Given the description of an element on the screen output the (x, y) to click on. 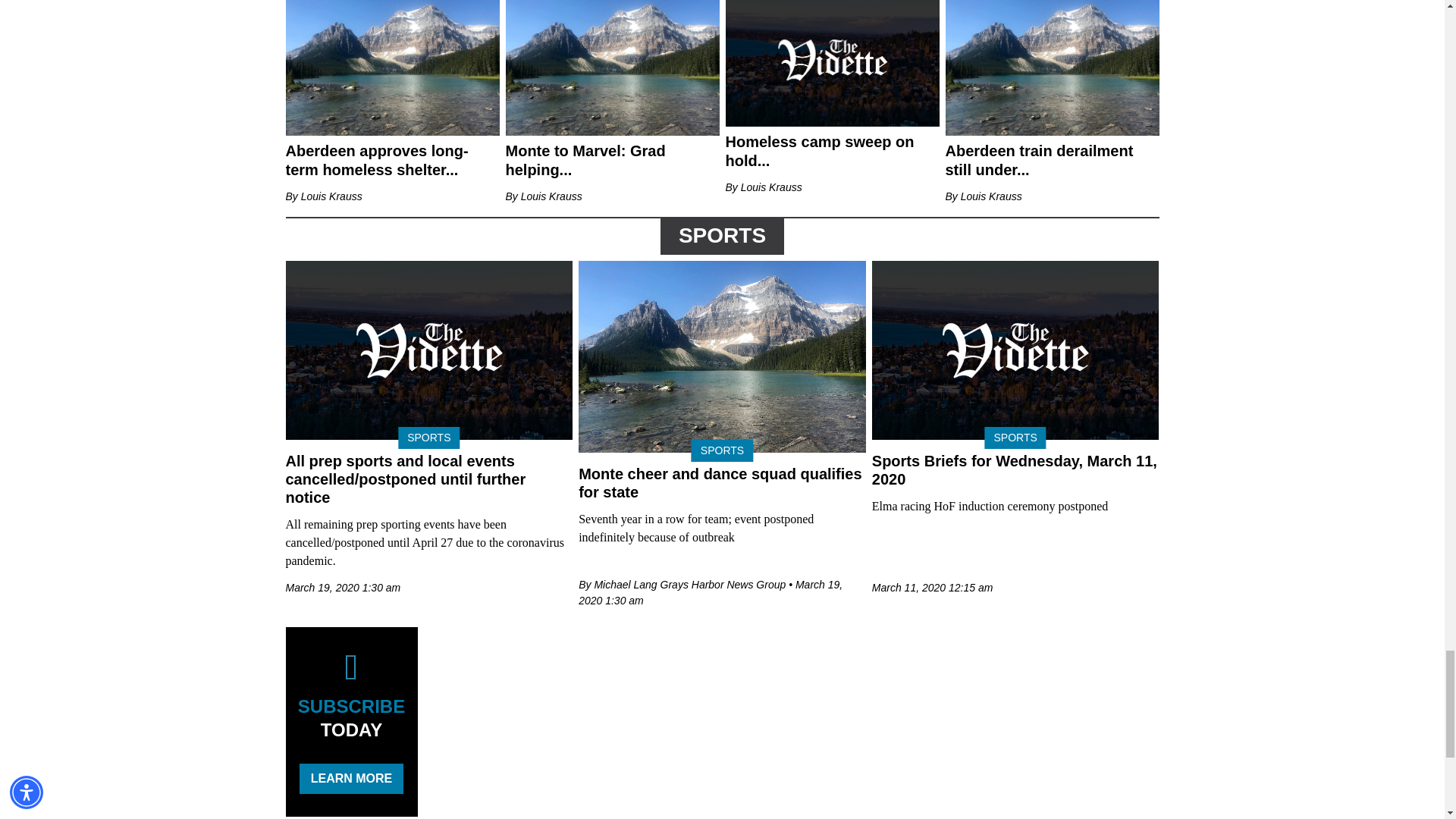
Aberdeen approves long-term homeless shelter budget (392, 62)
Monte to Marvel: Grad helping produce blockbusters (612, 62)
